Given the description of an element on the screen output the (x, y) to click on. 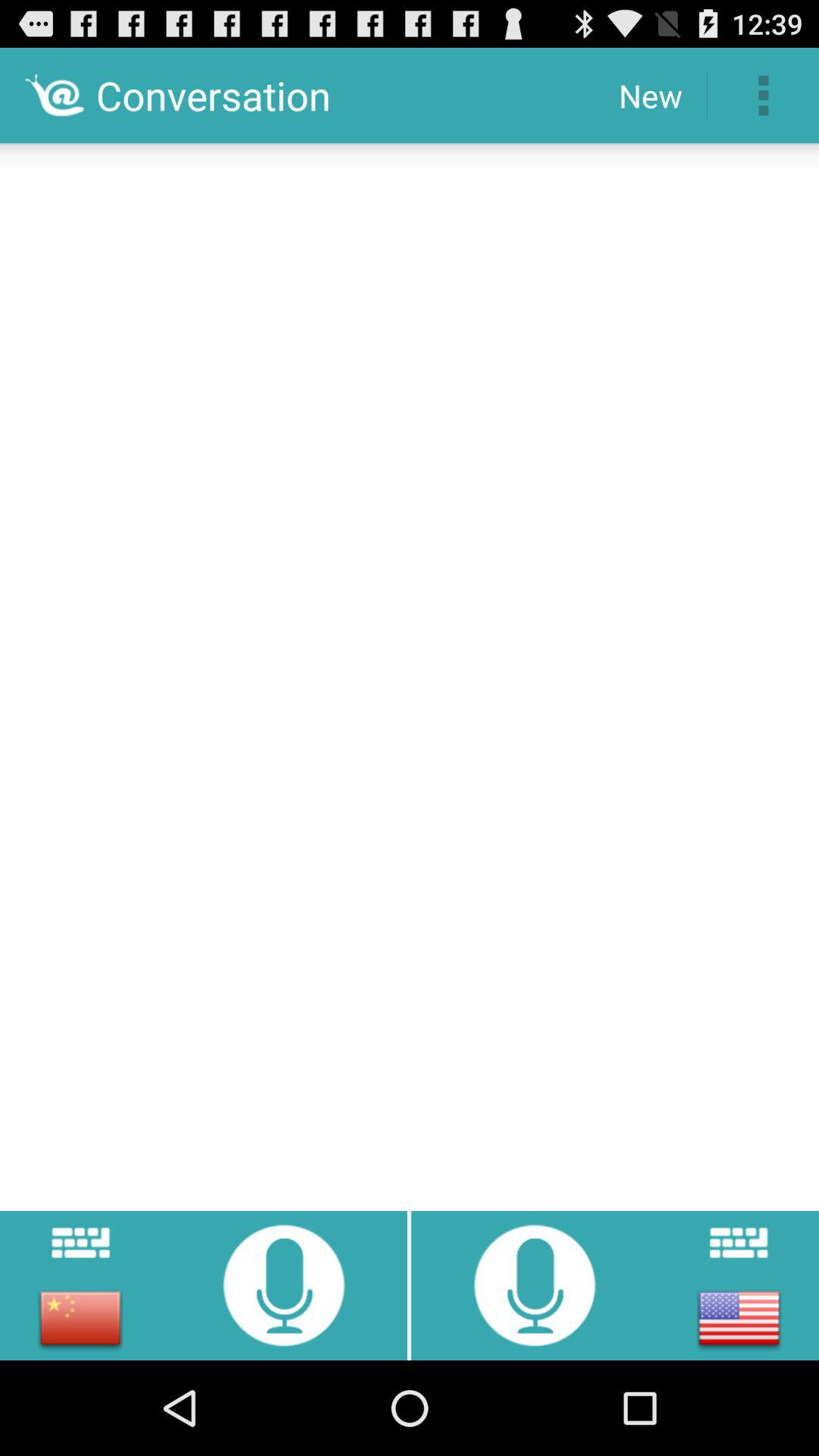
chane input language (738, 1317)
